Given the description of an element on the screen output the (x, y) to click on. 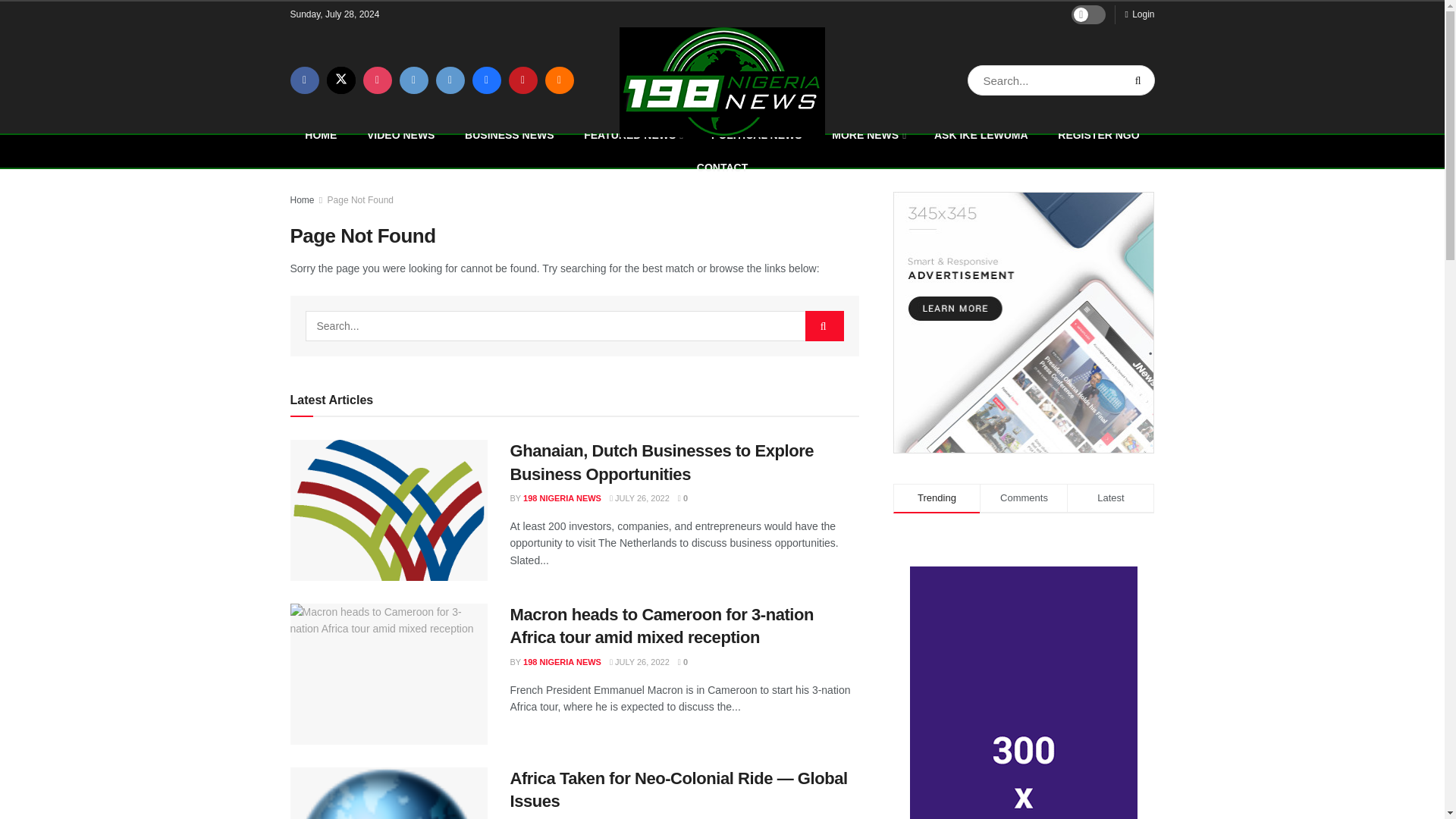
Ghanaian, Dutch Businesses to Explore Business Opportunities (387, 538)
FEATURED NEWS (632, 133)
Login (1139, 14)
POLITICAL NEWS (755, 133)
HOME (320, 133)
VIDEO NEWS (400, 133)
MORE NEWS (867, 133)
BUSINESS NEWS (509, 133)
